Given the description of an element on the screen output the (x, y) to click on. 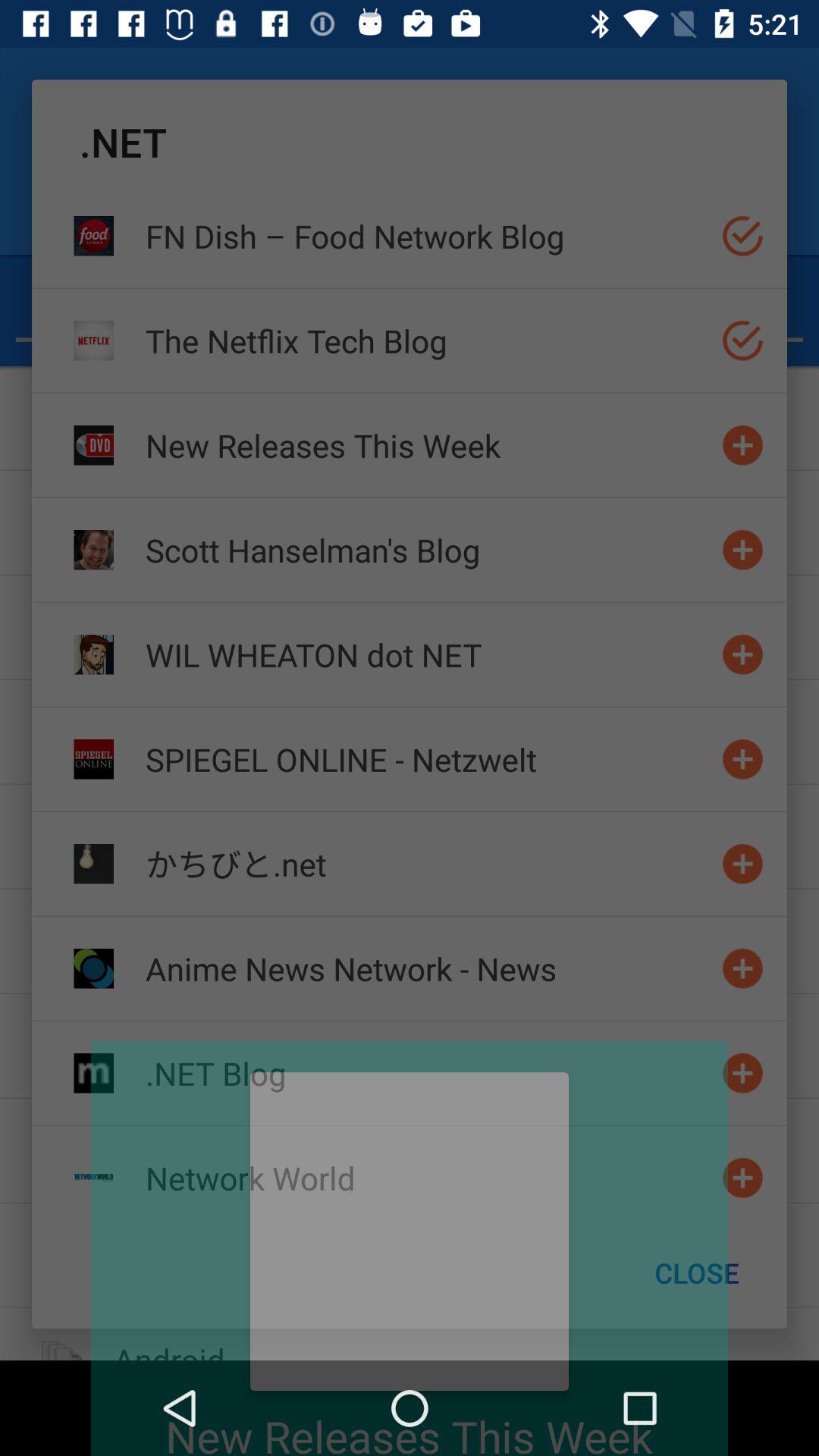
turn off the icon above the the netflix tech item (426, 235)
